Given the description of an element on the screen output the (x, y) to click on. 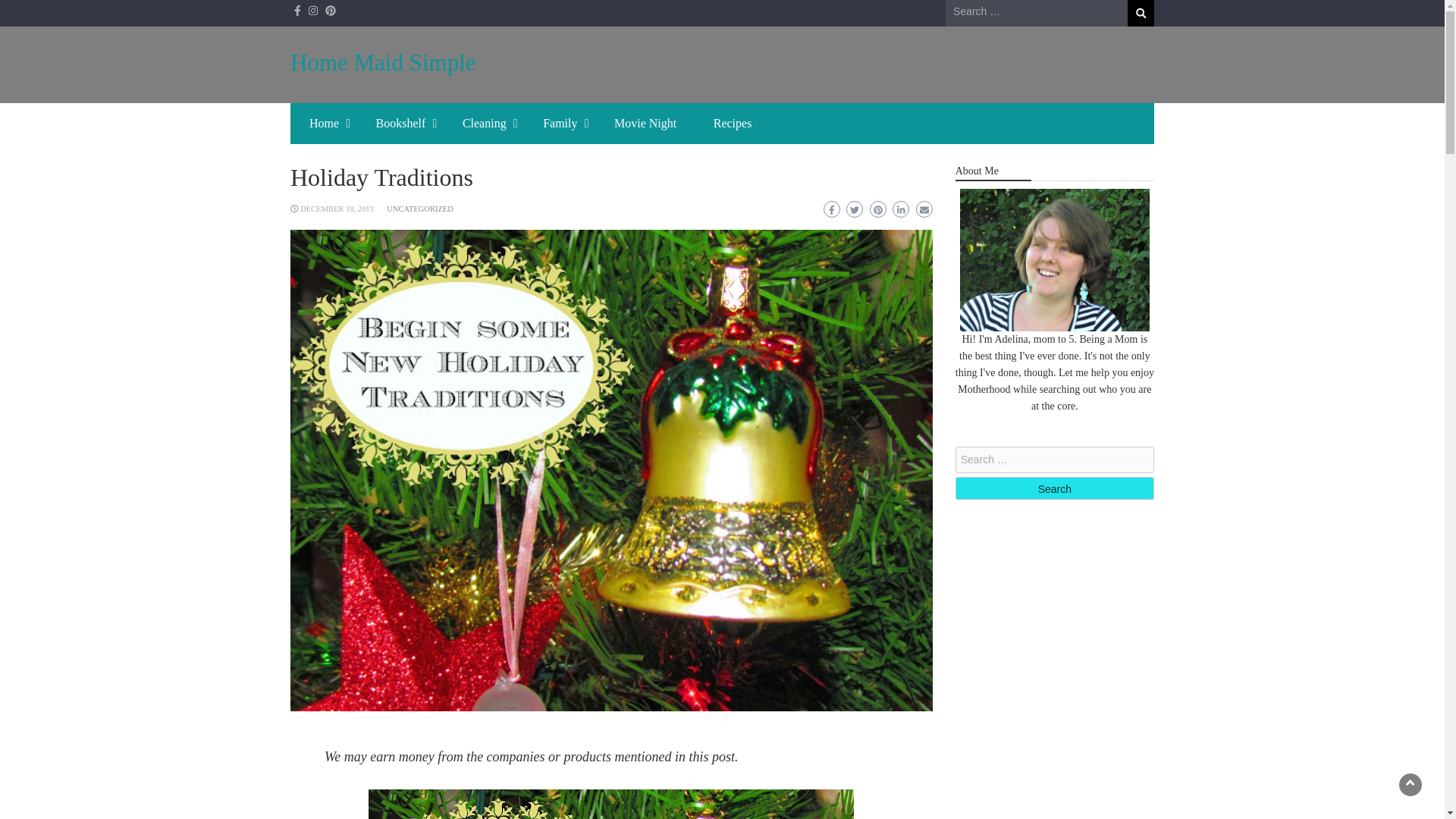
Search (1140, 13)
Movie Night (644, 123)
Search (1140, 13)
Search (1140, 13)
Bookshelf (401, 123)
UNCATEGORIZED (419, 208)
Family (559, 123)
Home (323, 123)
Recipes (732, 123)
DECEMBER 18, 2013 (336, 208)
Home Maid Simple (382, 62)
Search (1054, 487)
Search for: (1035, 11)
Search (1054, 487)
11 holiday traditions you can start with your family (610, 804)
